Given the description of an element on the screen output the (x, y) to click on. 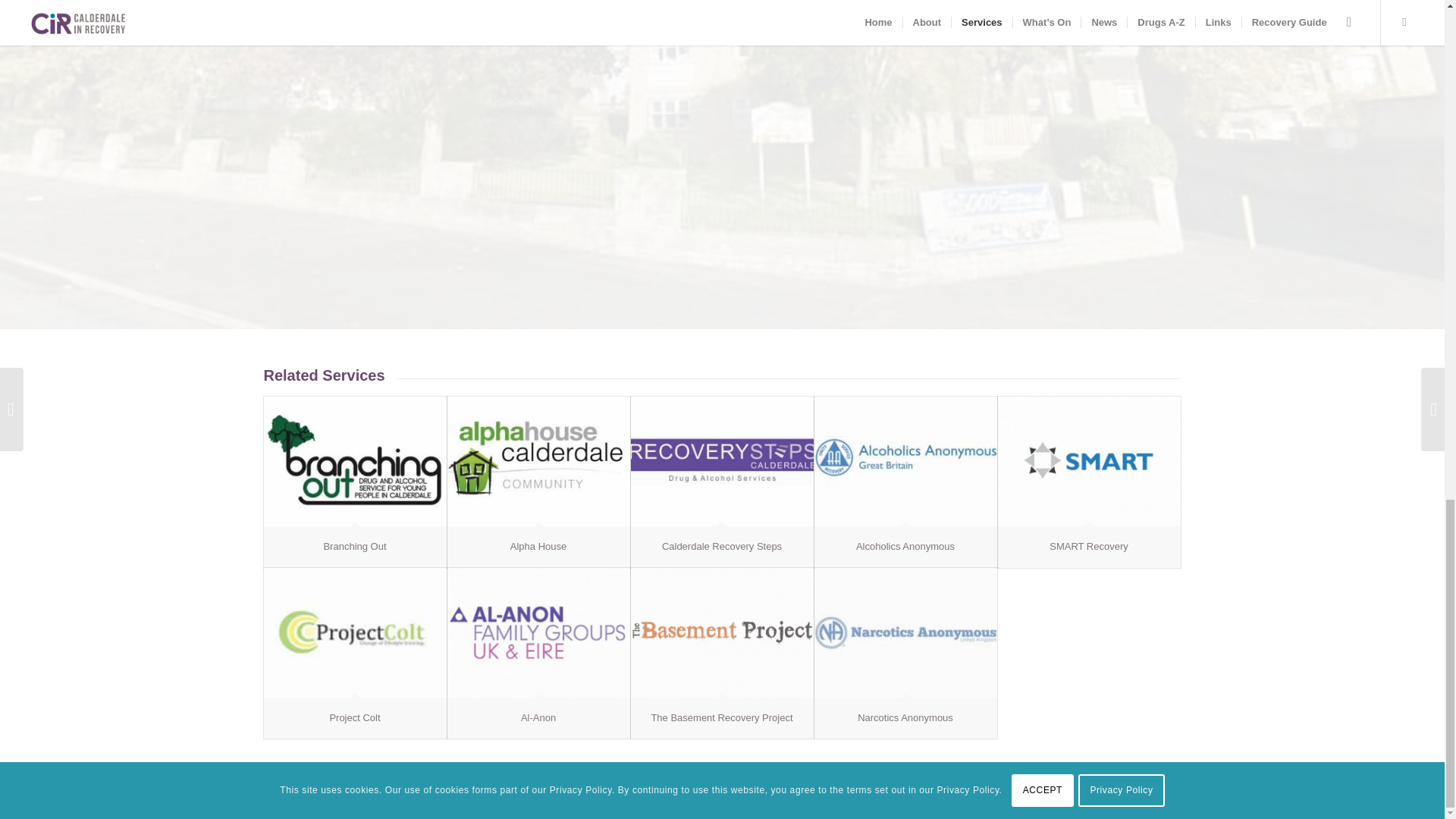
Alpha House (538, 461)
Branching Out (354, 461)
Alpha House (538, 546)
Calderdale Recovery Steps (721, 546)
Calderdale Recovery Steps (721, 461)
Branching Out (354, 546)
